Given the description of an element on the screen output the (x, y) to click on. 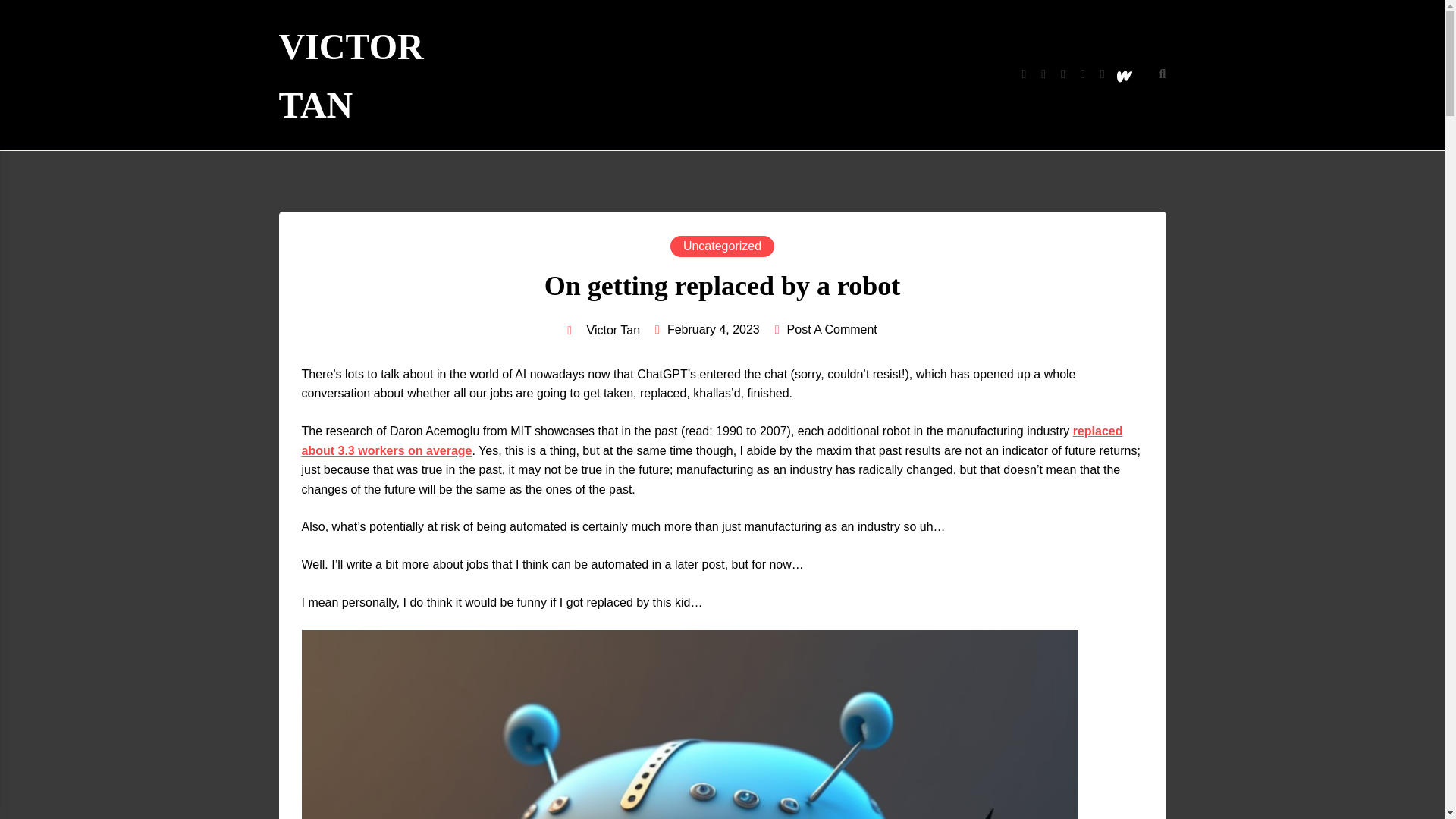
ABOUT ME (795, 76)
MY BOOKS (702, 76)
HOME (624, 76)
VICTOR TAN (381, 76)
SPEAKING (970, 76)
CONTACT (883, 76)
